Given the description of an element on the screen output the (x, y) to click on. 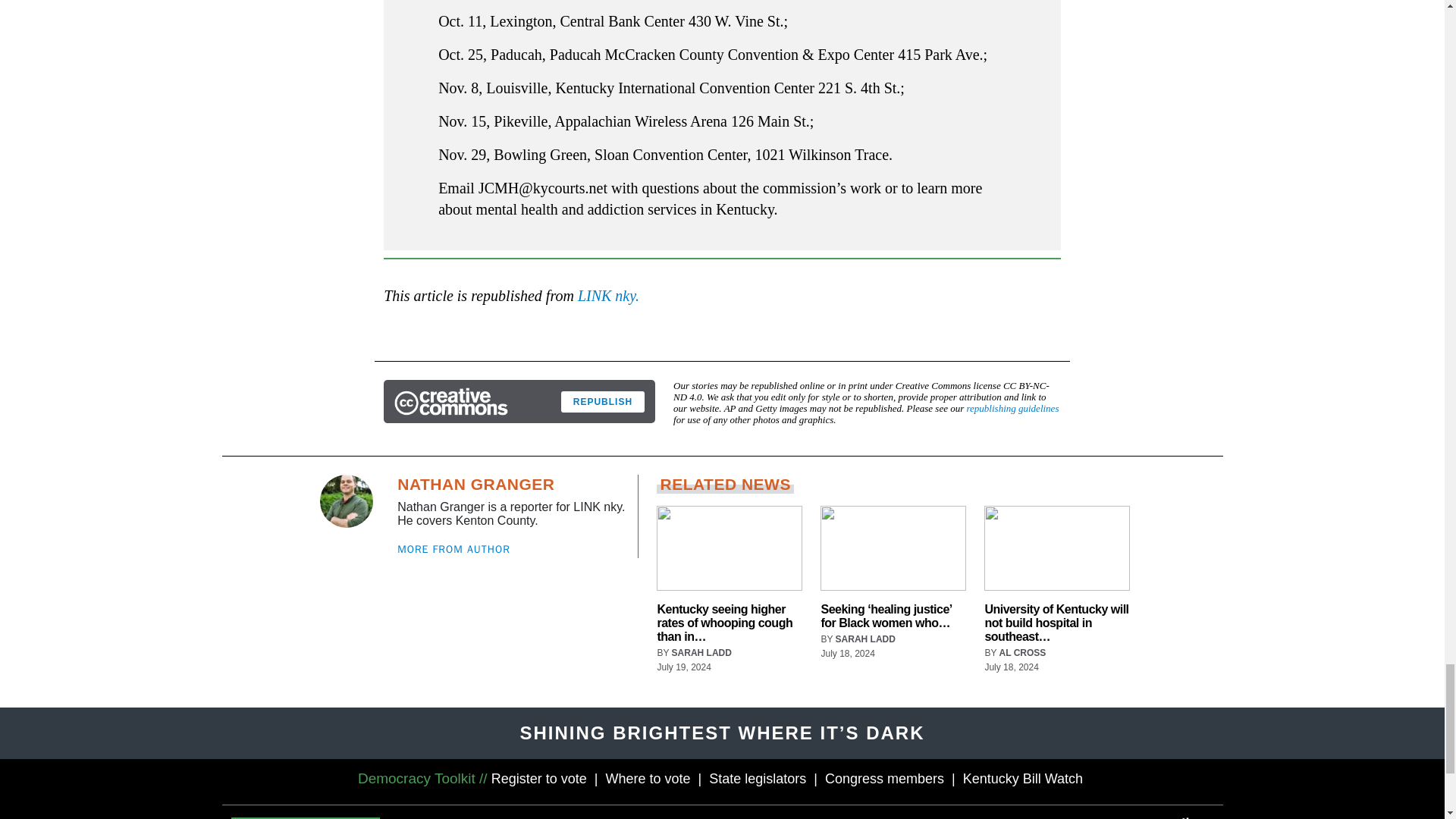
Posts by Sarah Ladd (865, 638)
Posts by Sarah Ladd (701, 652)
Posts by Al Cross (1022, 652)
LINK nky. (608, 295)
Page 2 (722, 110)
